Given the description of an element on the screen output the (x, y) to click on. 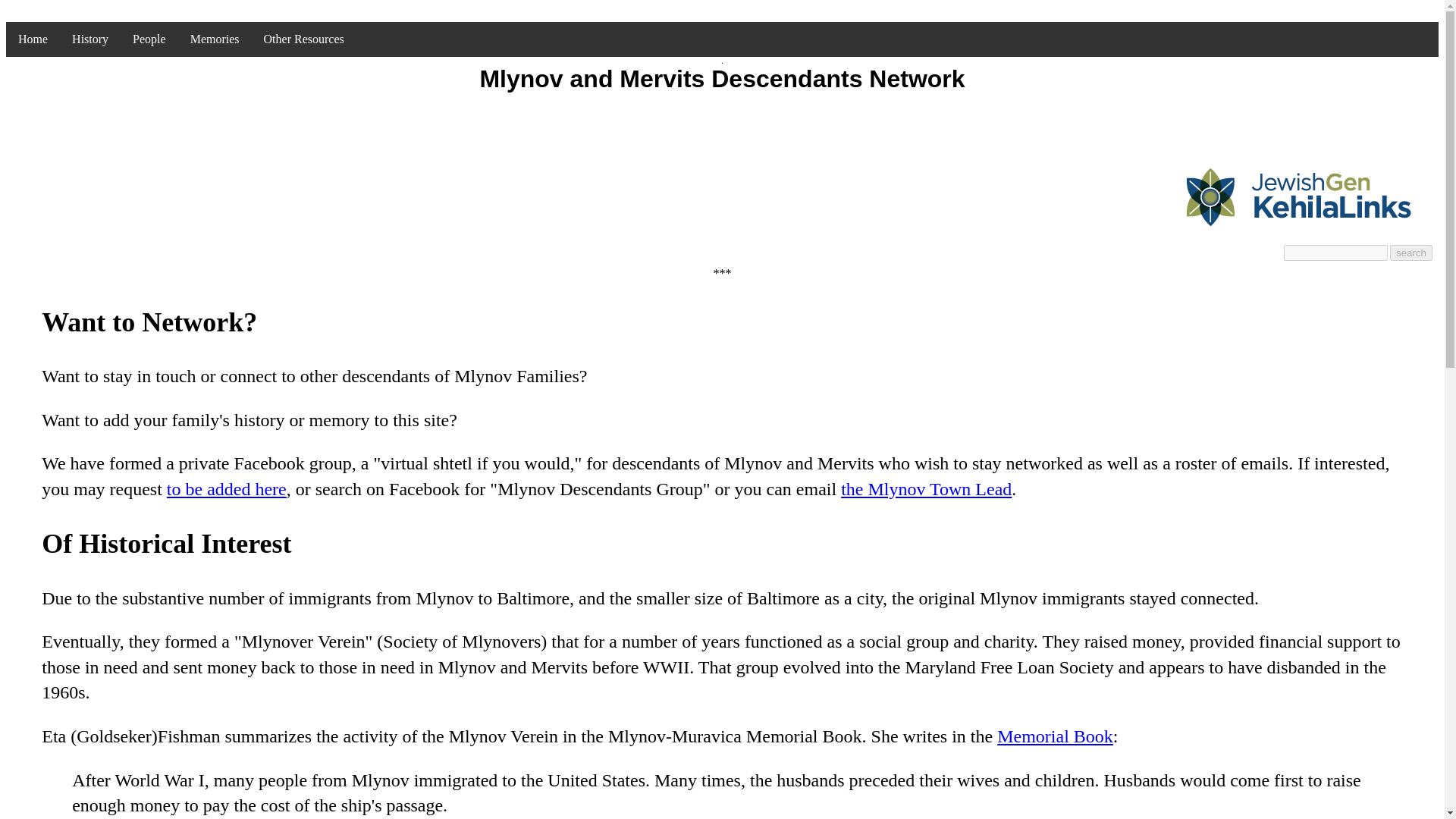
the Mlynov Town Lead (926, 488)
search (1411, 252)
Other Resources (303, 39)
People (148, 39)
search (1411, 252)
Memories (214, 39)
History (89, 39)
to be added here (226, 488)
Memorial Book (1055, 736)
Home (32, 39)
